Given the description of an element on the screen output the (x, y) to click on. 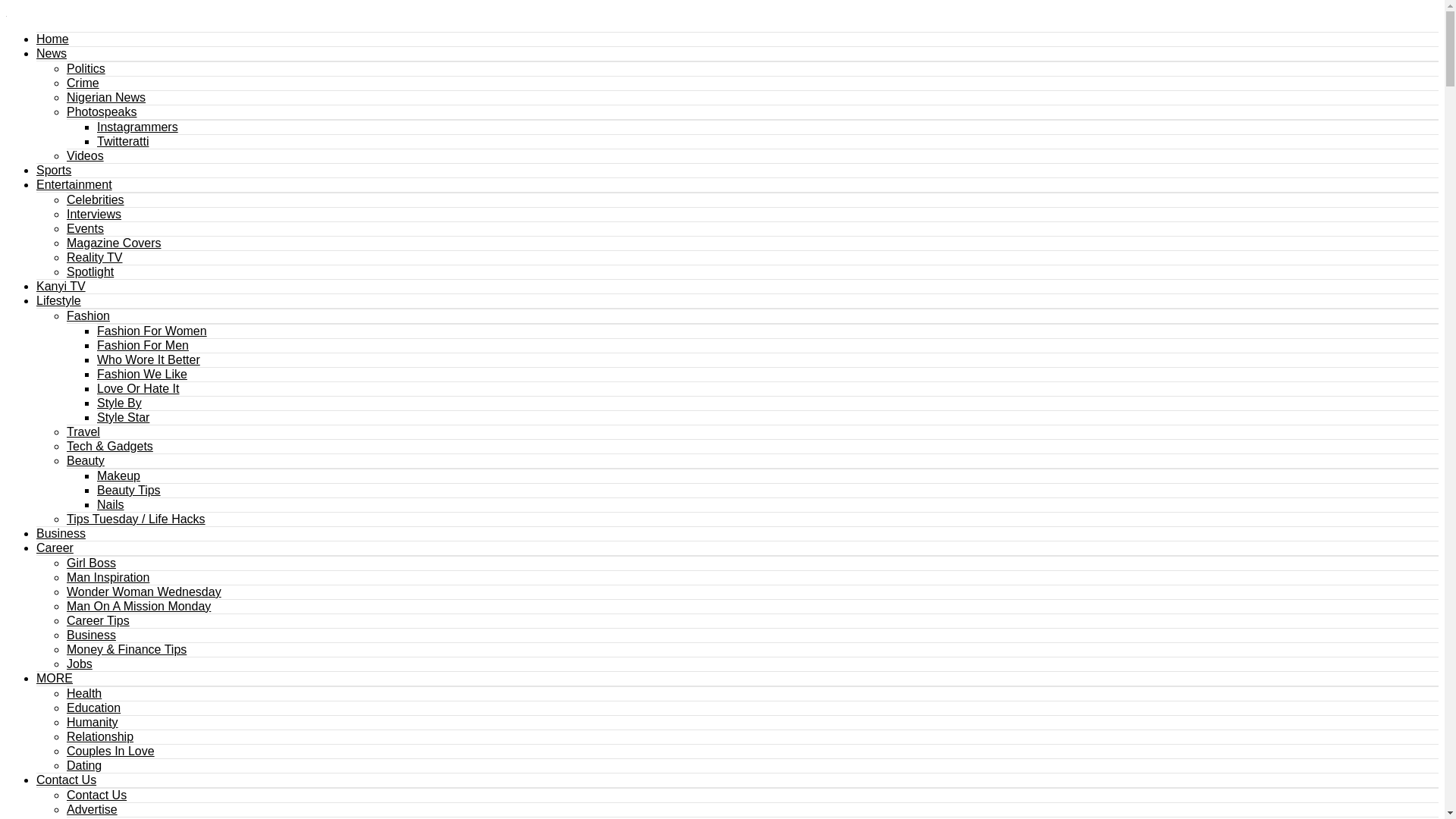
Instagrammers (137, 126)
Style Star (123, 417)
Who Wore It Better (148, 359)
Career (55, 547)
Videos (84, 155)
Kanyi TV (60, 286)
Beauty Tips (128, 490)
Photospeaks (101, 111)
Beauty (85, 460)
Fashion For Women (151, 330)
